Given the description of an element on the screen output the (x, y) to click on. 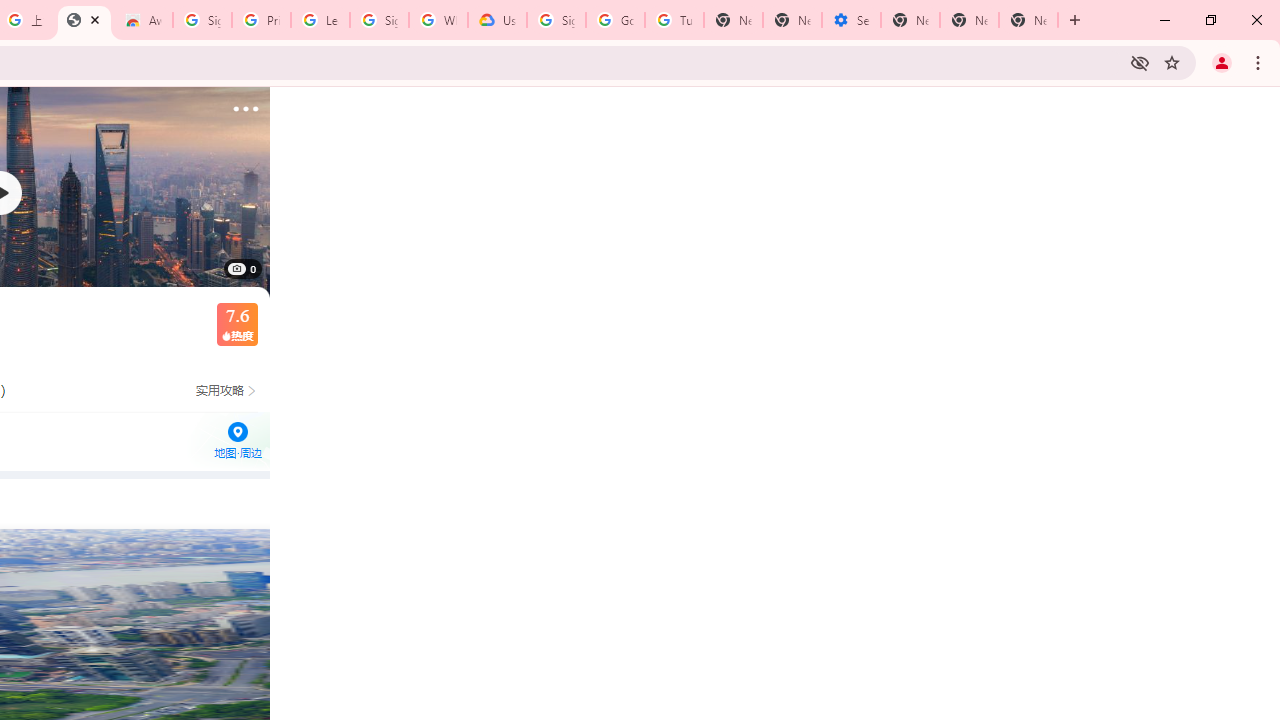
Who are Google's partners? - Privacy and conditions - Google (438, 20)
New Tab (909, 20)
Turn cookies on or off - Computer - Google Account Help (674, 20)
Google Account Help (615, 20)
